Given the description of an element on the screen output the (x, y) to click on. 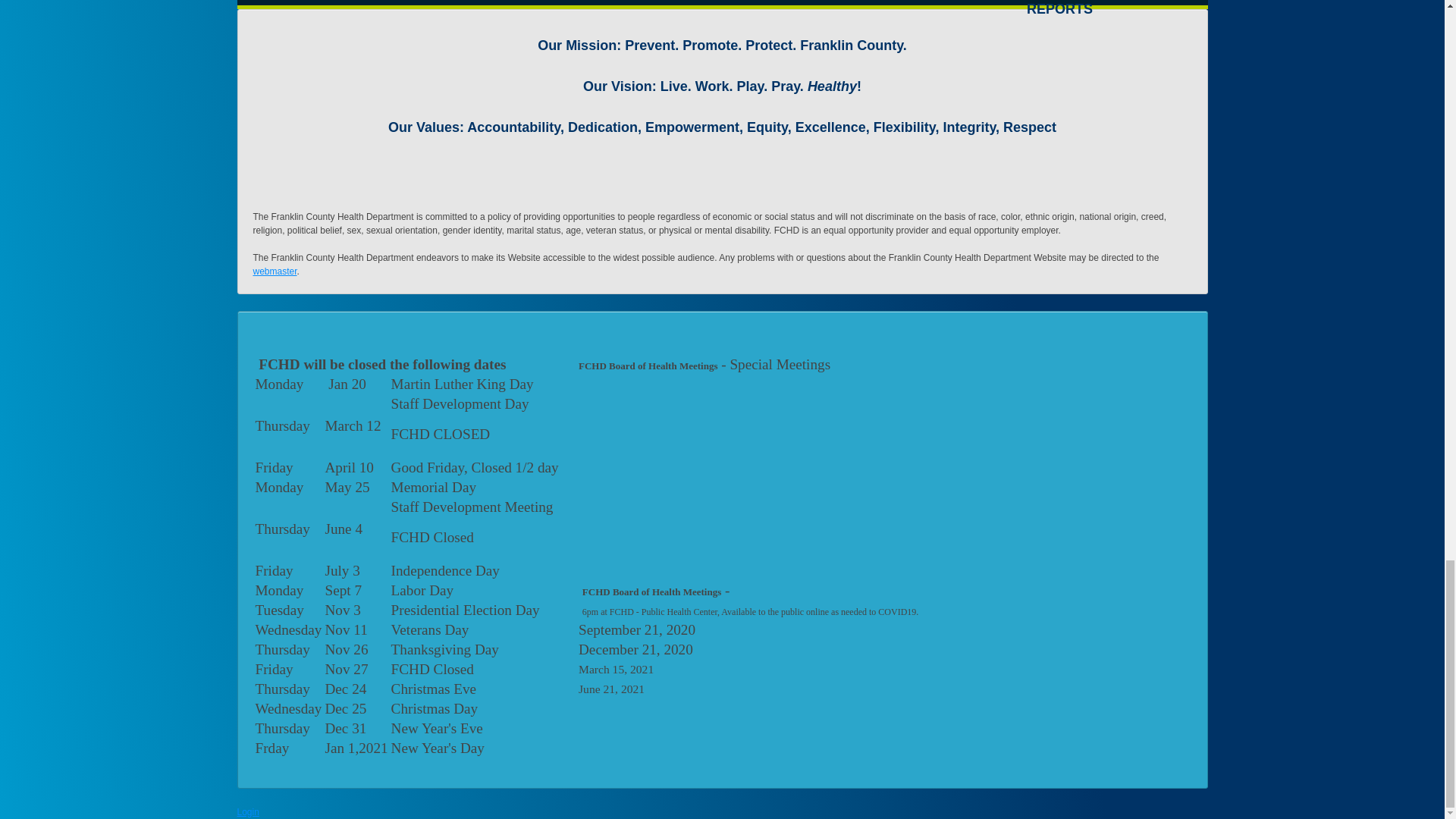
Login (247, 811)
